Given the description of an element on the screen output the (x, y) to click on. 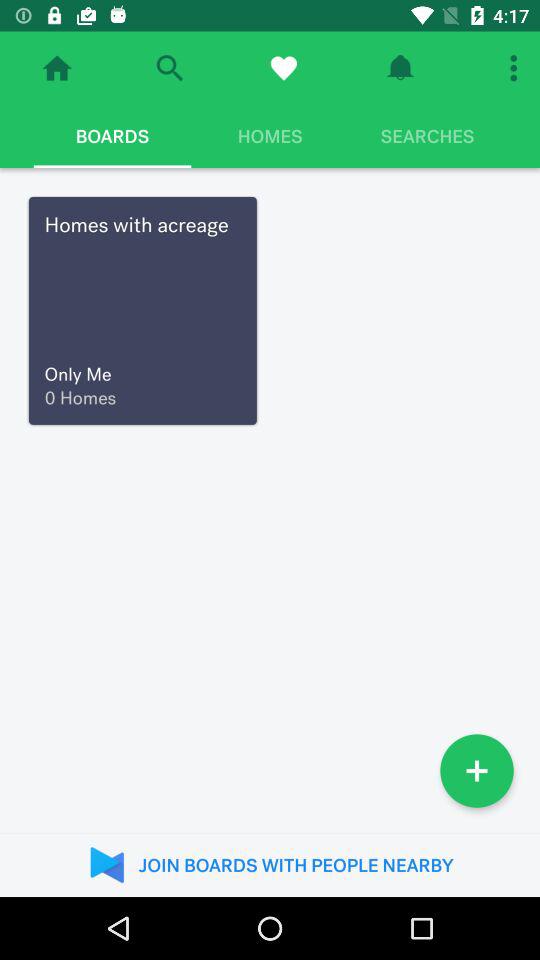
tap icon to the right of homes icon (427, 136)
